Given the description of an element on the screen output the (x, y) to click on. 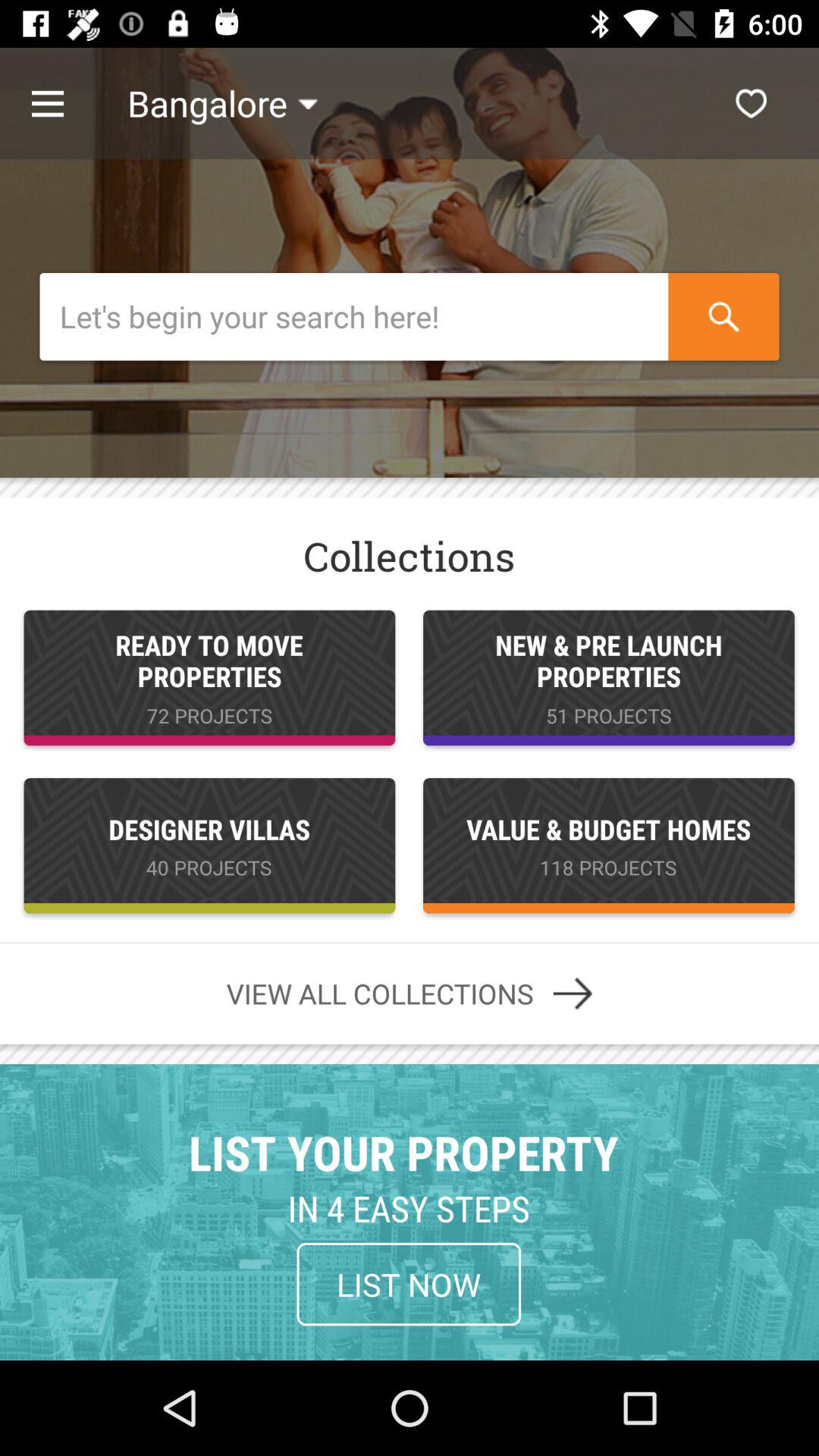
menu (63, 103)
